Given the description of an element on the screen output the (x, y) to click on. 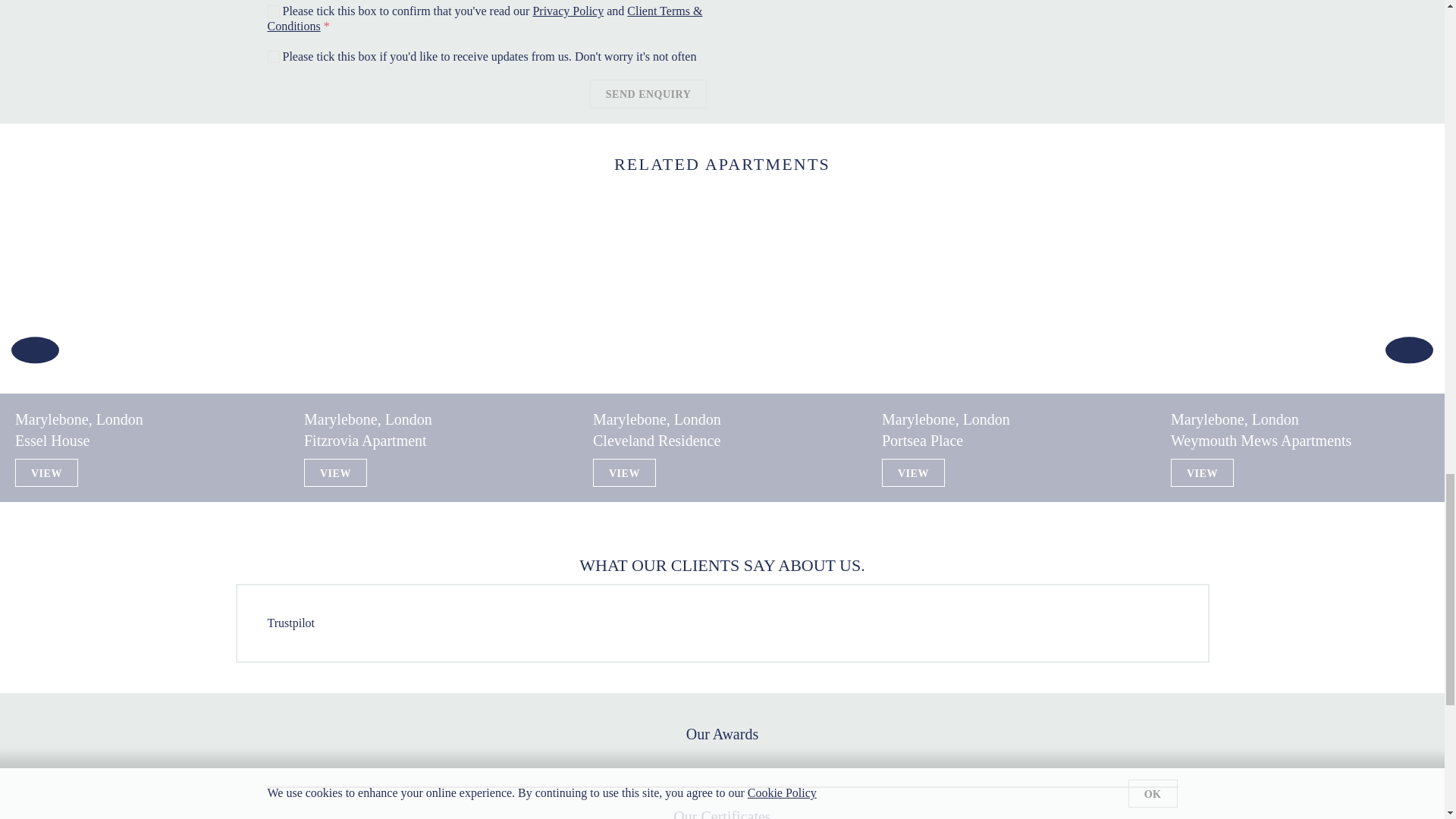
1 (272, 56)
Send Enquiry (647, 93)
1 (272, 10)
